Given the description of an element on the screen output the (x, y) to click on. 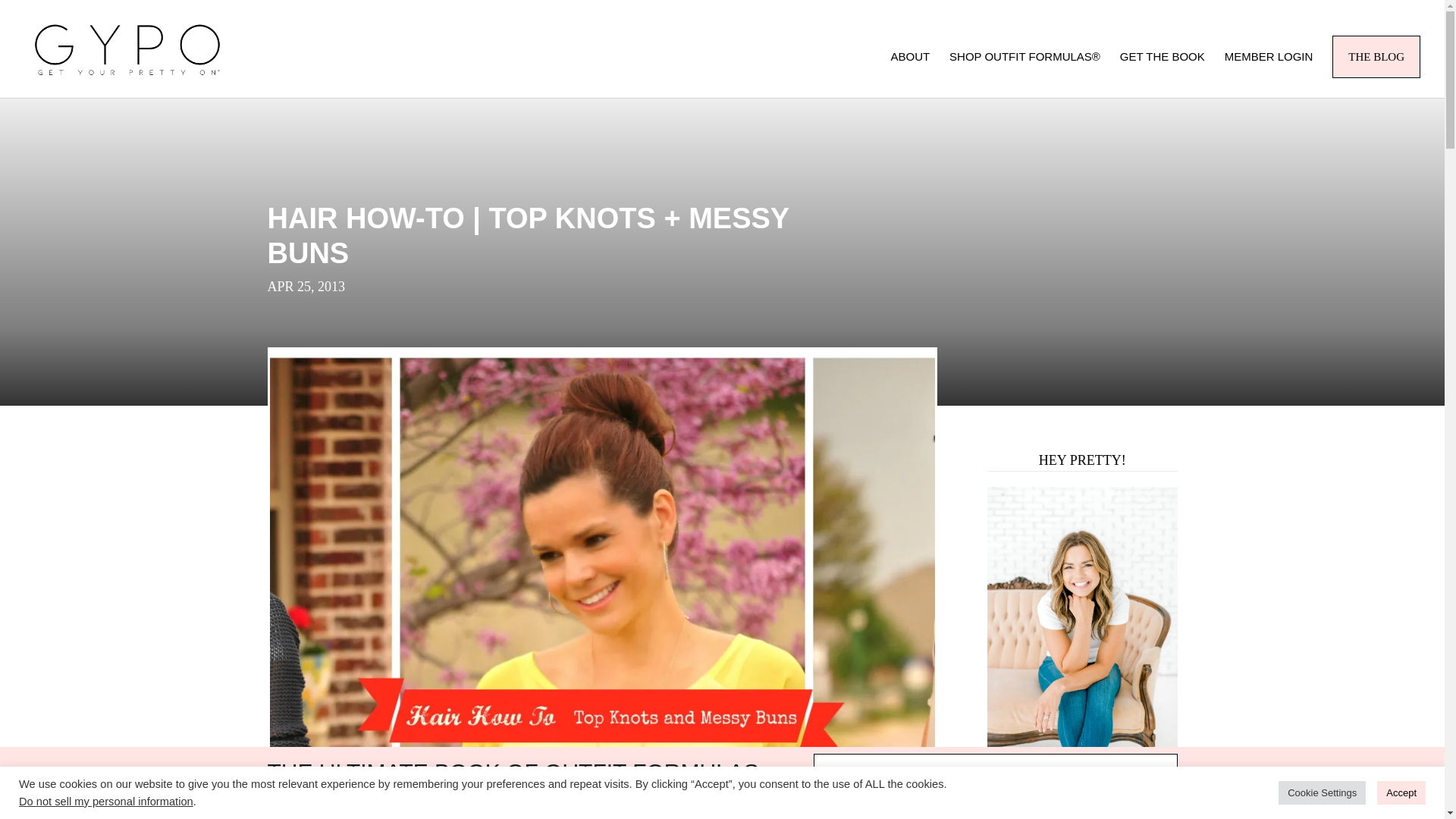
ORDER NOW (994, 771)
THE BLOG (1376, 56)
GET THE BOOK (1162, 74)
MEMBER LOGIN (1268, 74)
ABOUT (909, 74)
